Given the description of an element on the screen output the (x, y) to click on. 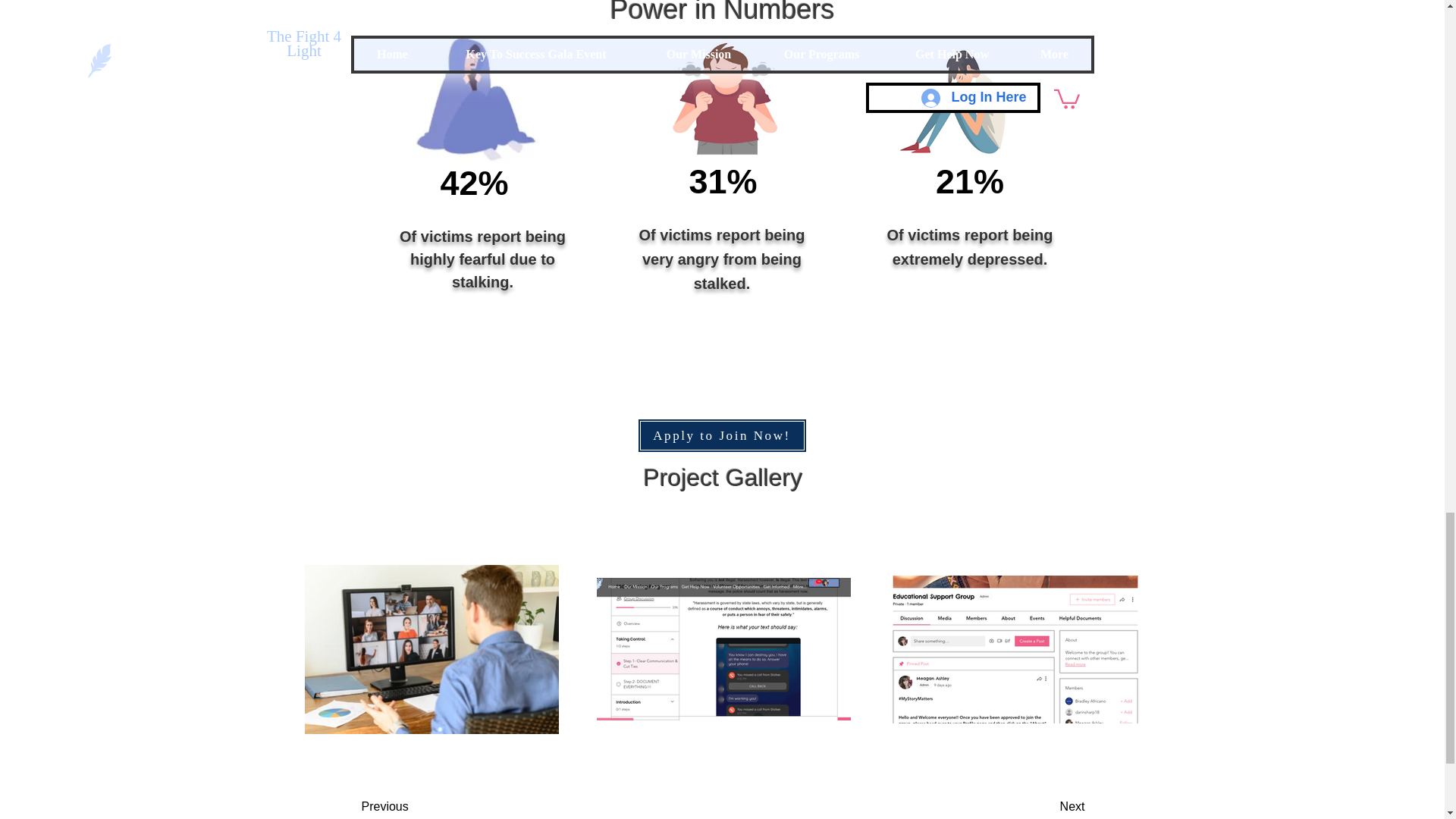
Next (1033, 805)
Previous (422, 805)
Apply to Join Now! (721, 435)
angry.png (723, 99)
depressed.png (956, 99)
